Given the description of an element on the screen output the (x, y) to click on. 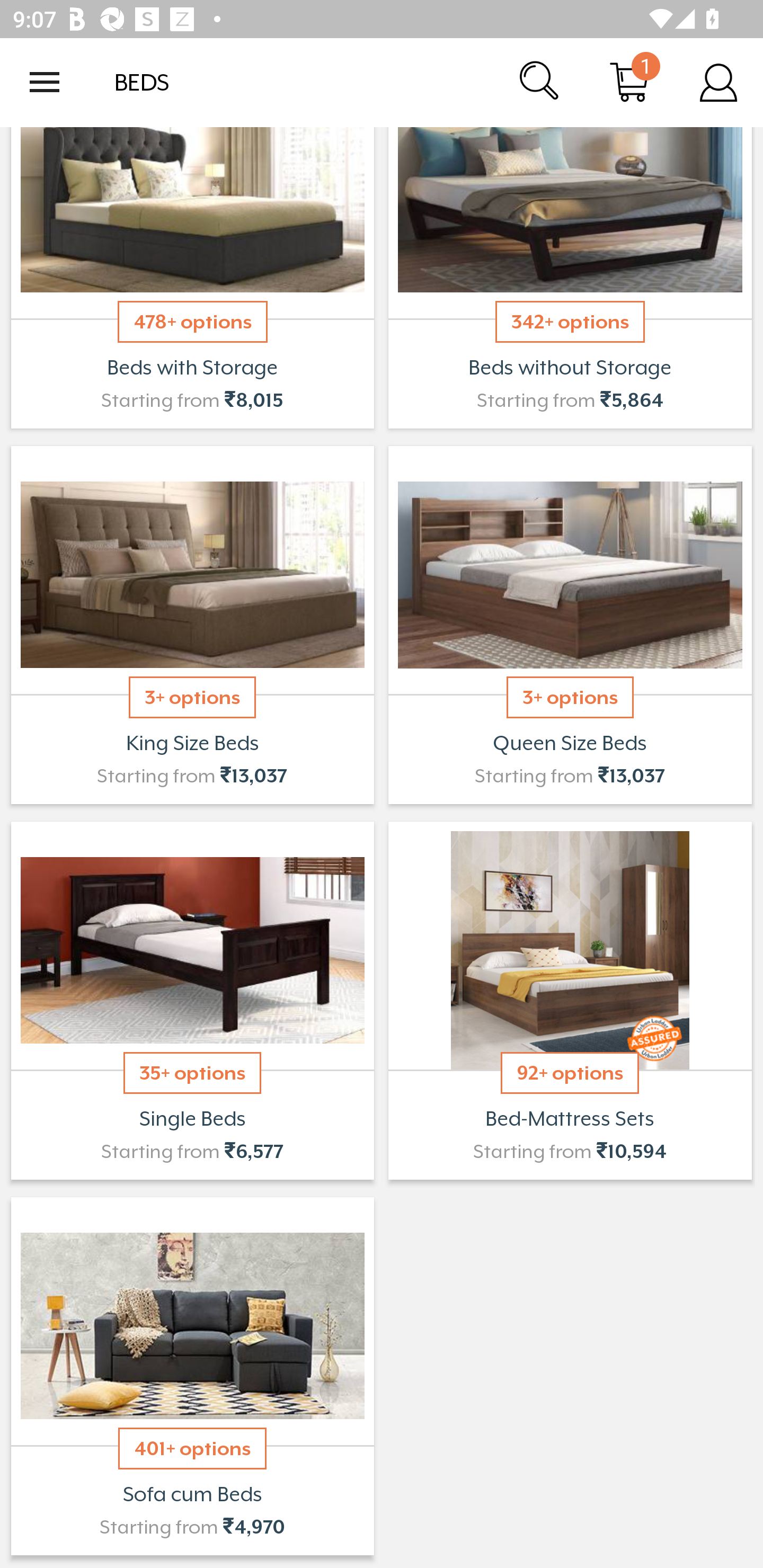
Open navigation drawer (44, 82)
Search (540, 81)
Cart (629, 81)
Account Details (718, 81)
3+ options King Size Beds Starting from  ₹13,037 (191, 624)
3+ options Queen Size Beds Starting from  ₹13,037 (570, 624)
35+ options Single Beds Starting from  ₹6,577 (191, 999)
401+ options Sofa cum Beds Starting from  ₹4,970 (191, 1375)
